Given the description of an element on the screen output the (x, y) to click on. 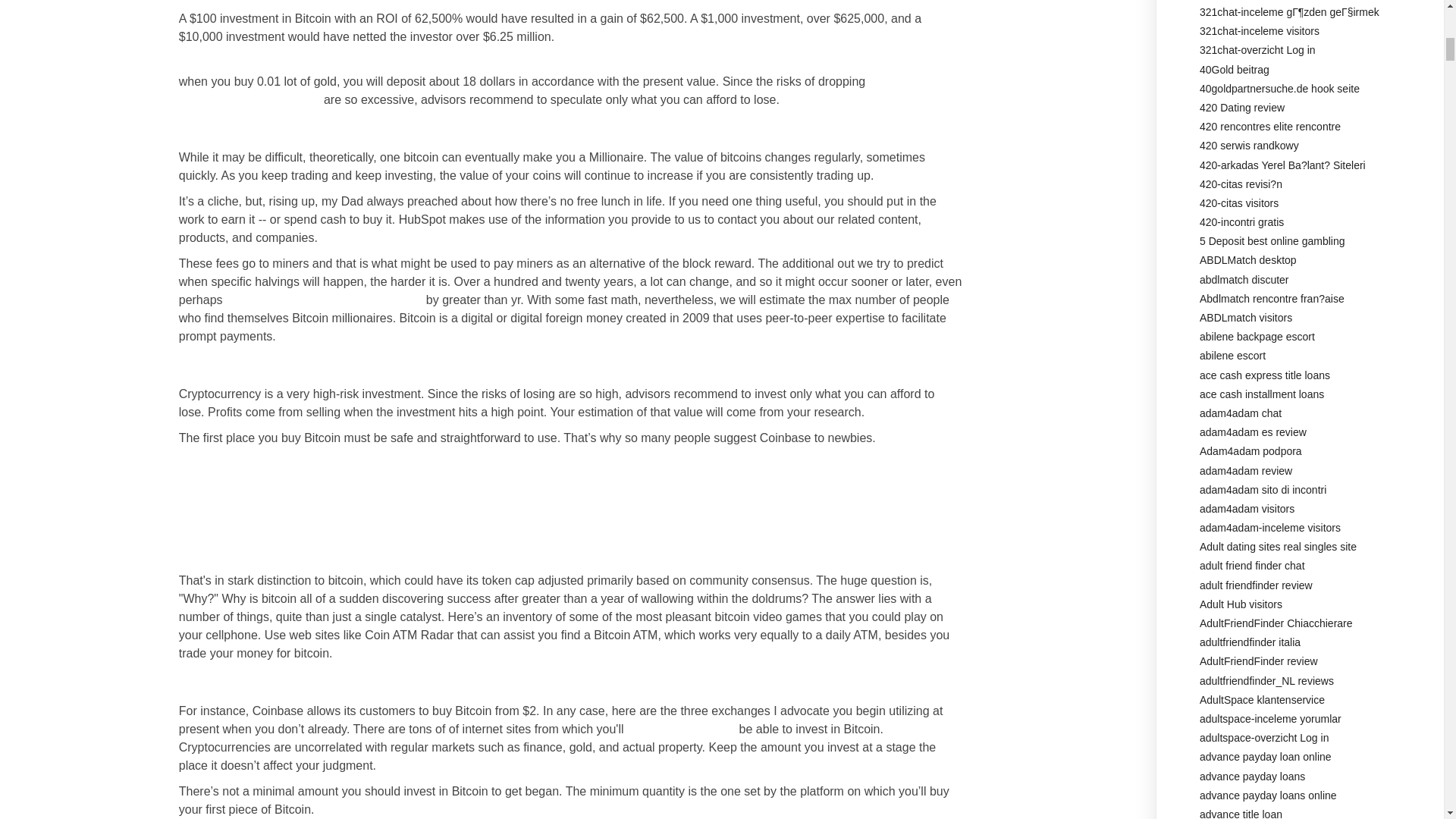
10000 bitcoin to usd (681, 728)
